Given the description of an element on the screen output the (x, y) to click on. 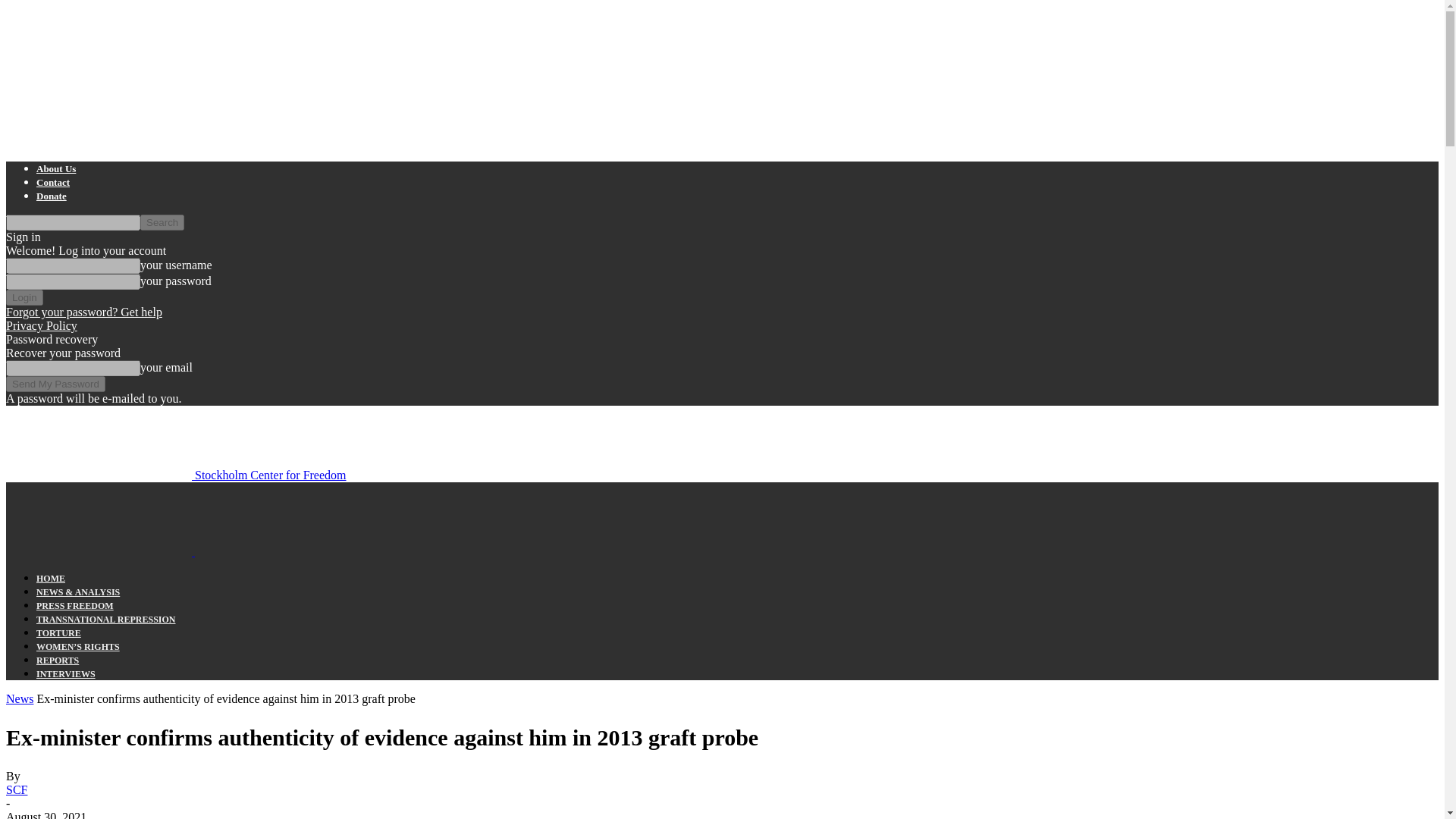
REPORTS (57, 660)
Search (161, 222)
Search (161, 222)
News (19, 698)
Donate (51, 195)
PRESS FREEDOM (74, 605)
Forgot your password? Get help (83, 311)
View all posts in News (19, 698)
Send My Password (54, 383)
INTERVIEWS (66, 674)
HOME (50, 578)
Contact (52, 182)
Stockholm Center for Freedom (175, 474)
About Us (55, 168)
Login (24, 297)
